Given the description of an element on the screen output the (x, y) to click on. 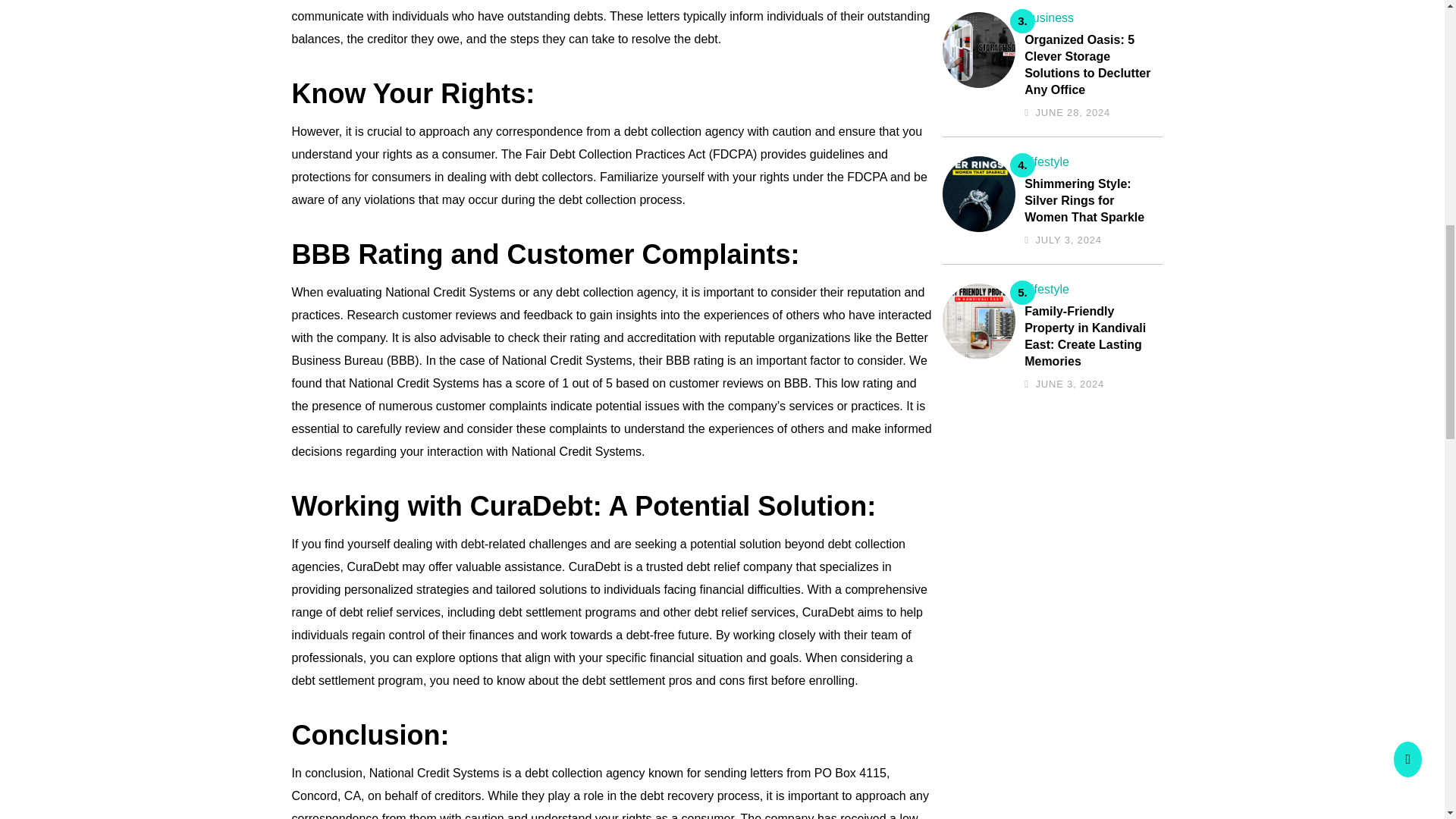
Business (1049, 17)
Shimmering Style: Silver Rings for Women That Sparkle (1089, 201)
Lifestyle (1046, 288)
Lifestyle (1046, 161)
